Given the description of an element on the screen output the (x, y) to click on. 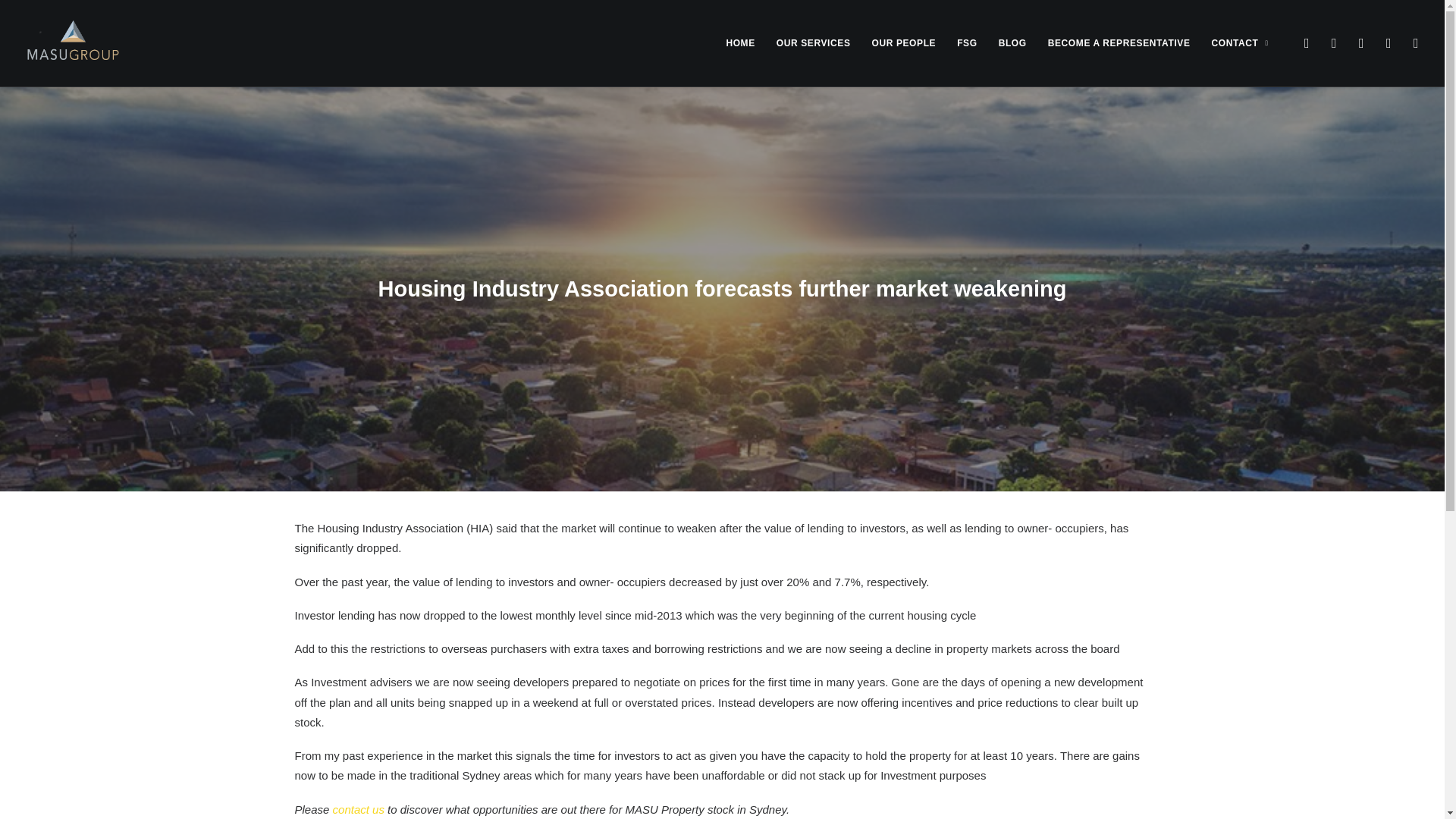
FSG (966, 43)
Home (739, 43)
BECOME A REPRESENTATIVE (1118, 43)
contact us (358, 808)
Our People (903, 43)
OUR SERVICES (813, 43)
HOME (739, 43)
CONTACT (1234, 43)
Blog (1012, 43)
Contact (1234, 43)
Become a Representative (1118, 43)
BLOG (1012, 43)
OUR PEOPLE (903, 43)
FSG (966, 43)
Our Services (813, 43)
